Given the description of an element on the screen output the (x, y) to click on. 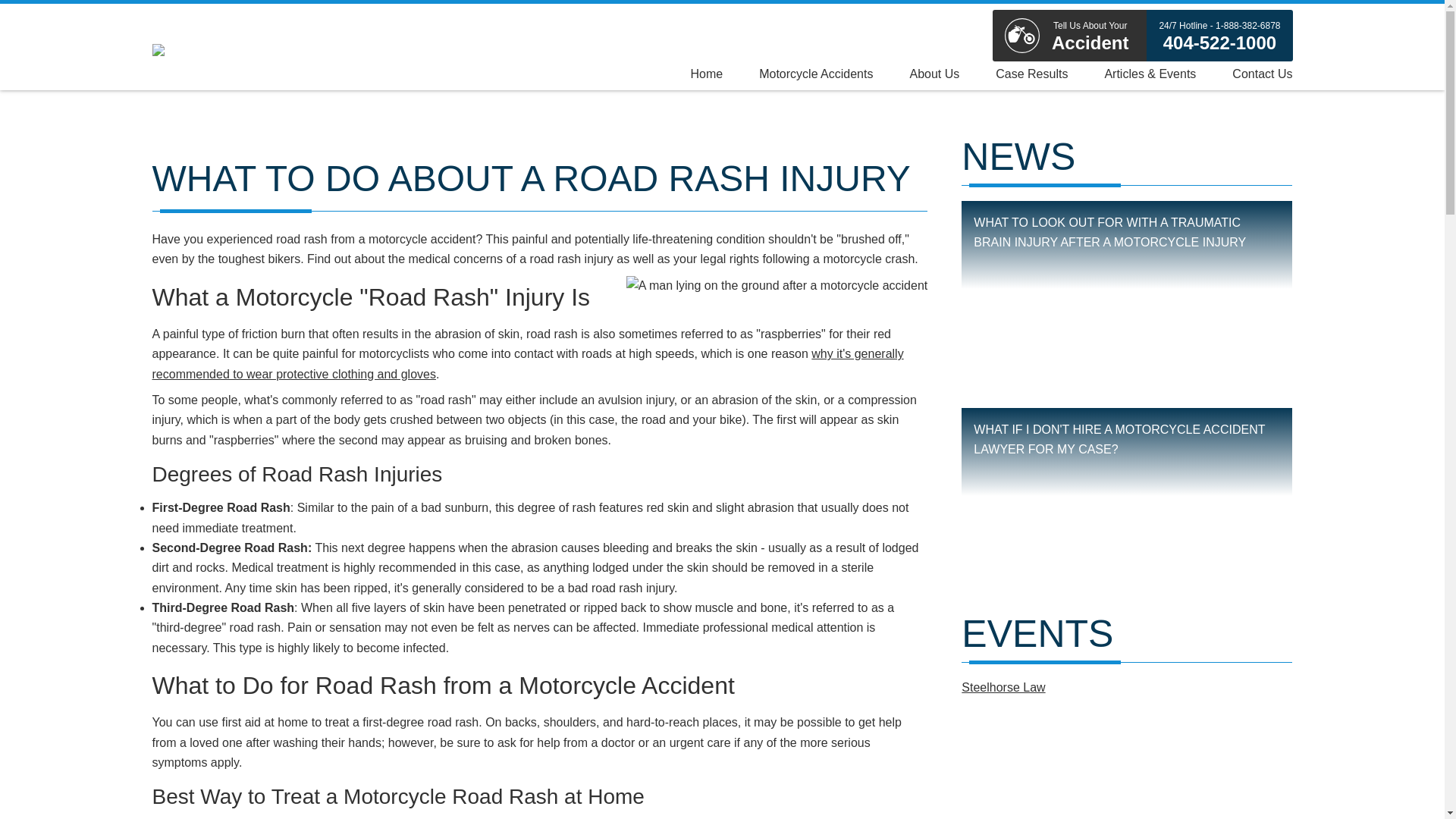
Steelhorse Law (1002, 686)
About Us (933, 72)
Case Results (1031, 72)
Contact Us (1253, 72)
Motorcycle Accidents (1069, 35)
Home (816, 72)
